Given the description of an element on the screen output the (x, y) to click on. 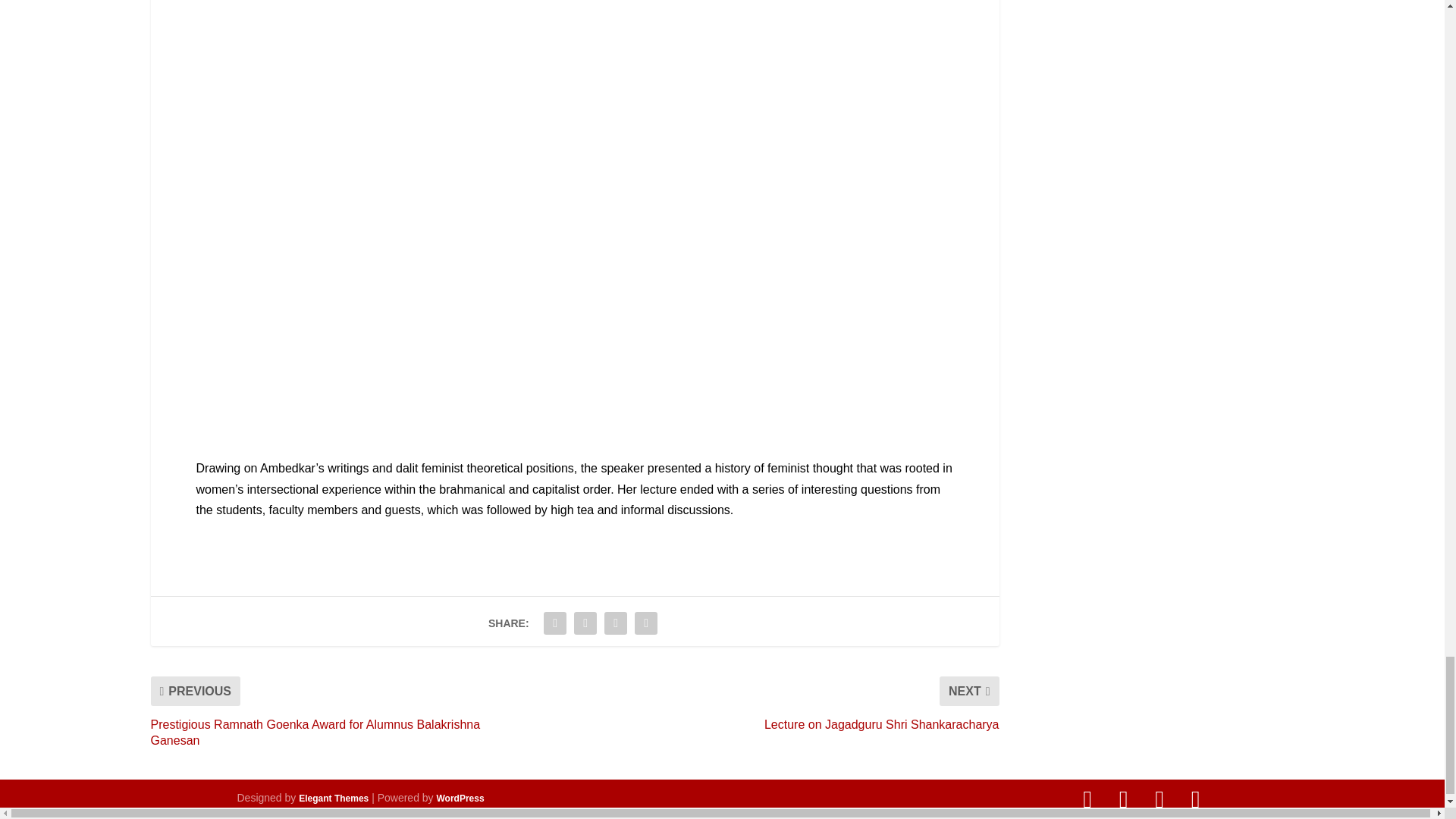
Premium WordPress Themes (333, 798)
WordPress (460, 798)
Elegant Themes (333, 798)
